Given the description of an element on the screen output the (x, y) to click on. 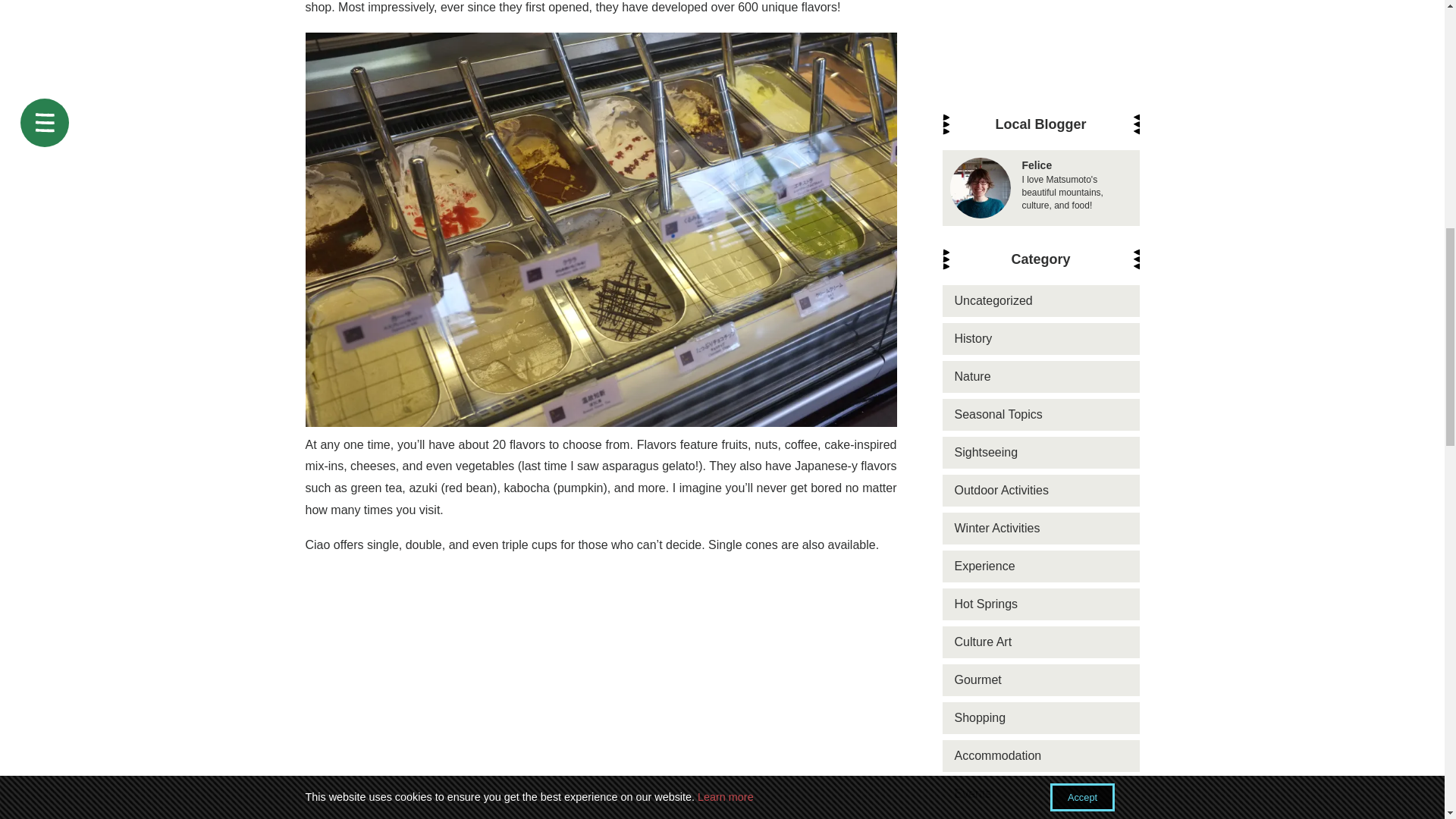
Site Update (1040, 254)
Shopping (1040, 26)
Access, Transportation (1040, 140)
Events (1040, 101)
Miscellaneous (1040, 215)
Accommodation (1040, 64)
Gourmet (1040, 2)
Sport (1040, 178)
